Given the description of an element on the screen output the (x, y) to click on. 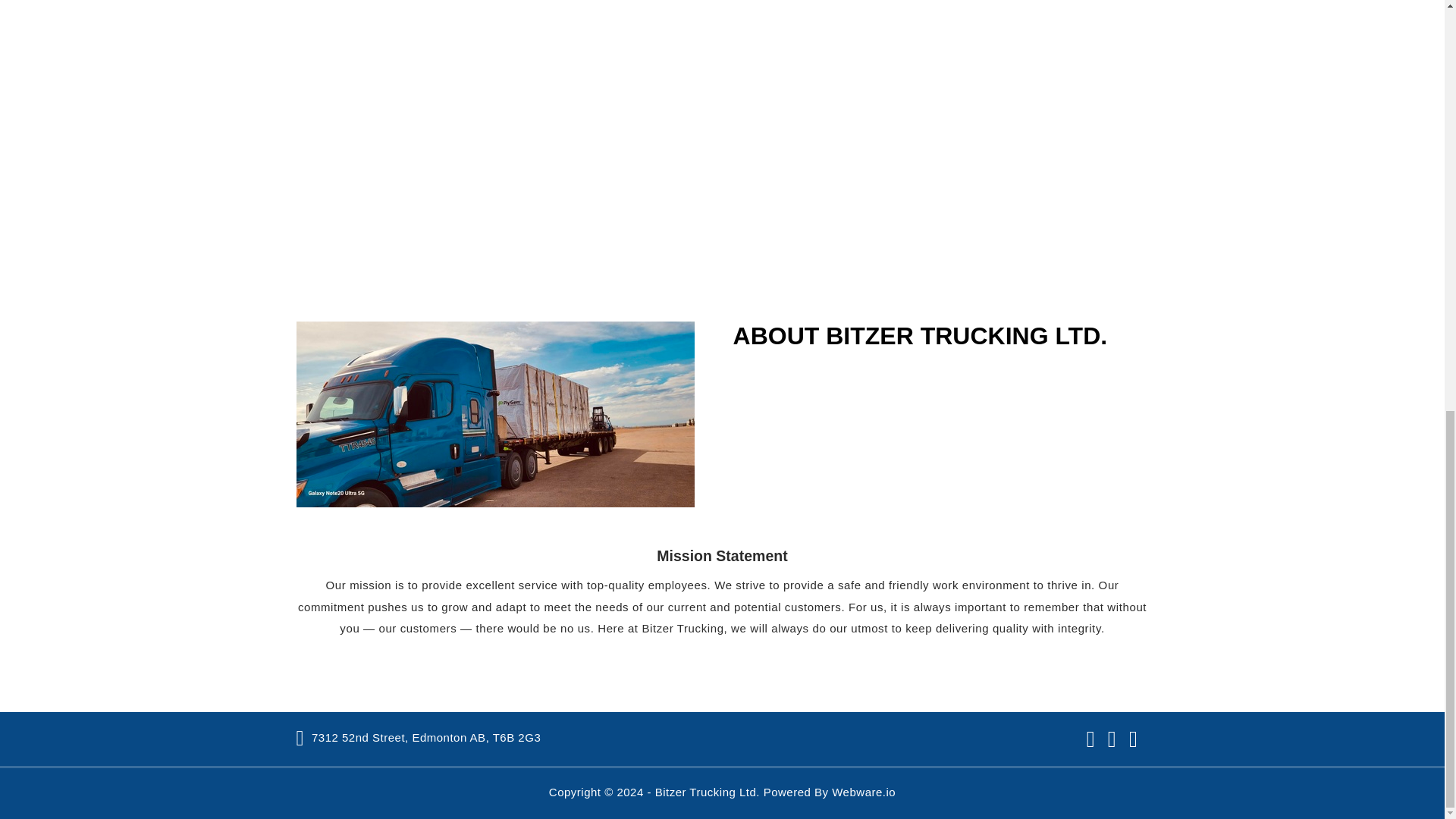
7312 52nd Street, Edmonton AB, T6B 2G3 (419, 737)
Webware.io (863, 791)
Bitzer Trucking Ltd. (707, 791)
